Given the description of an element on the screen output the (x, y) to click on. 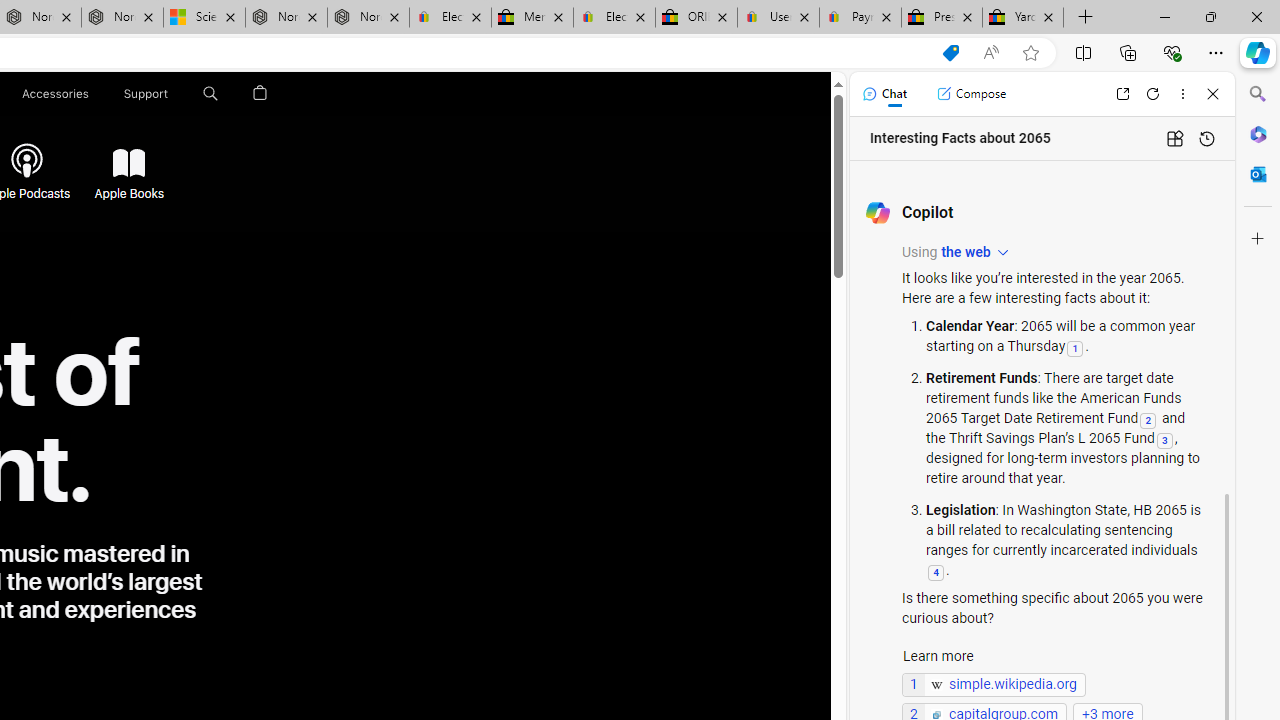
Apple Books (128, 164)
Accessories menu (91, 93)
Compose (971, 93)
Search apple.com (210, 93)
Class: globalnav-item globalnav-search shift-0-1 (210, 93)
AutomationID: globalnav-bag (260, 93)
